Given the description of an element on the screen output the (x, y) to click on. 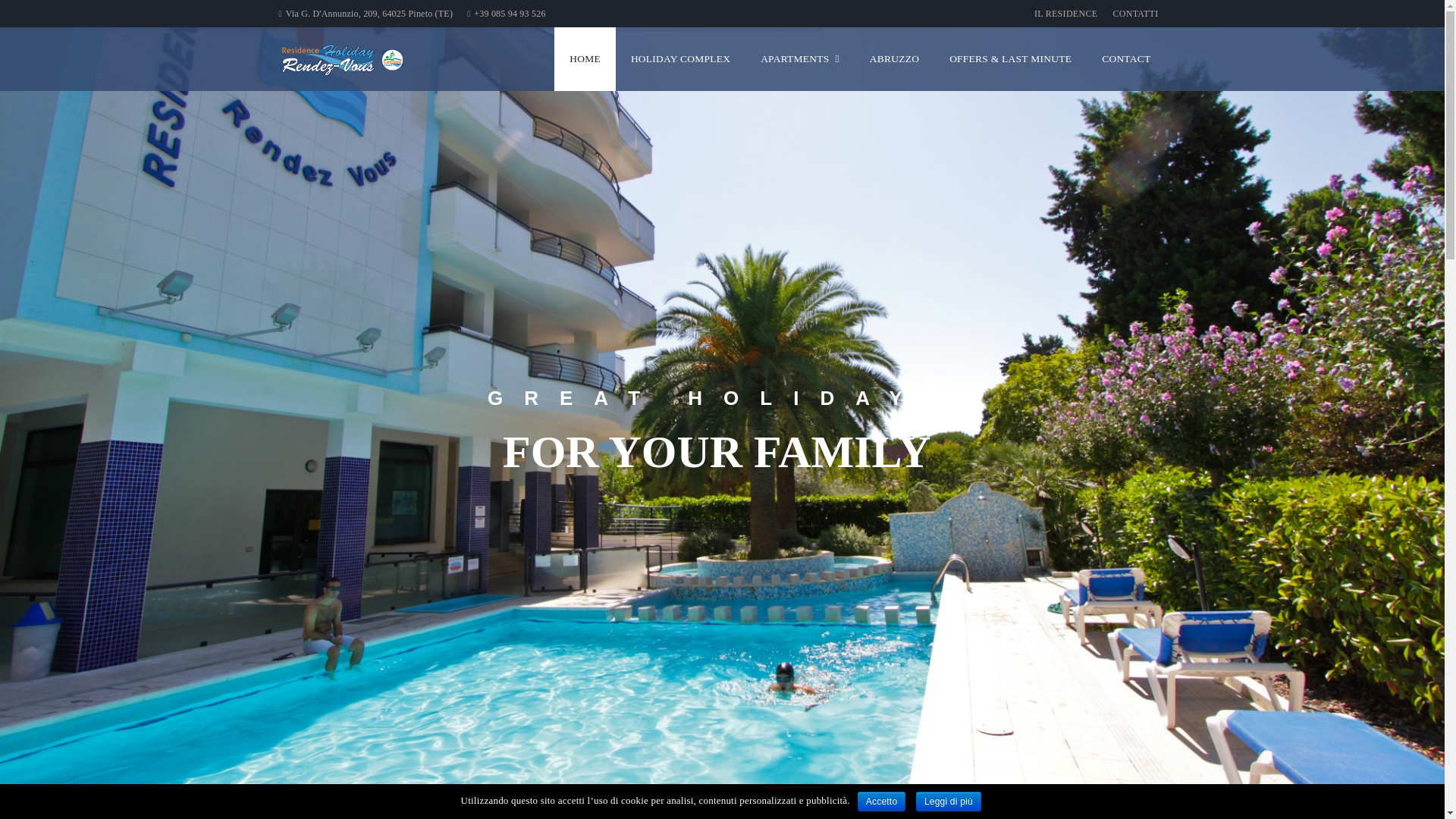
HOME (584, 58)
CONTACT (1126, 58)
IL RESIDENCE (1065, 13)
APARTMENTS (799, 58)
ABRUZZO (894, 58)
CONTATTI (1135, 13)
HOLIDAY COMPLEX (680, 58)
